Given the description of an element on the screen output the (x, y) to click on. 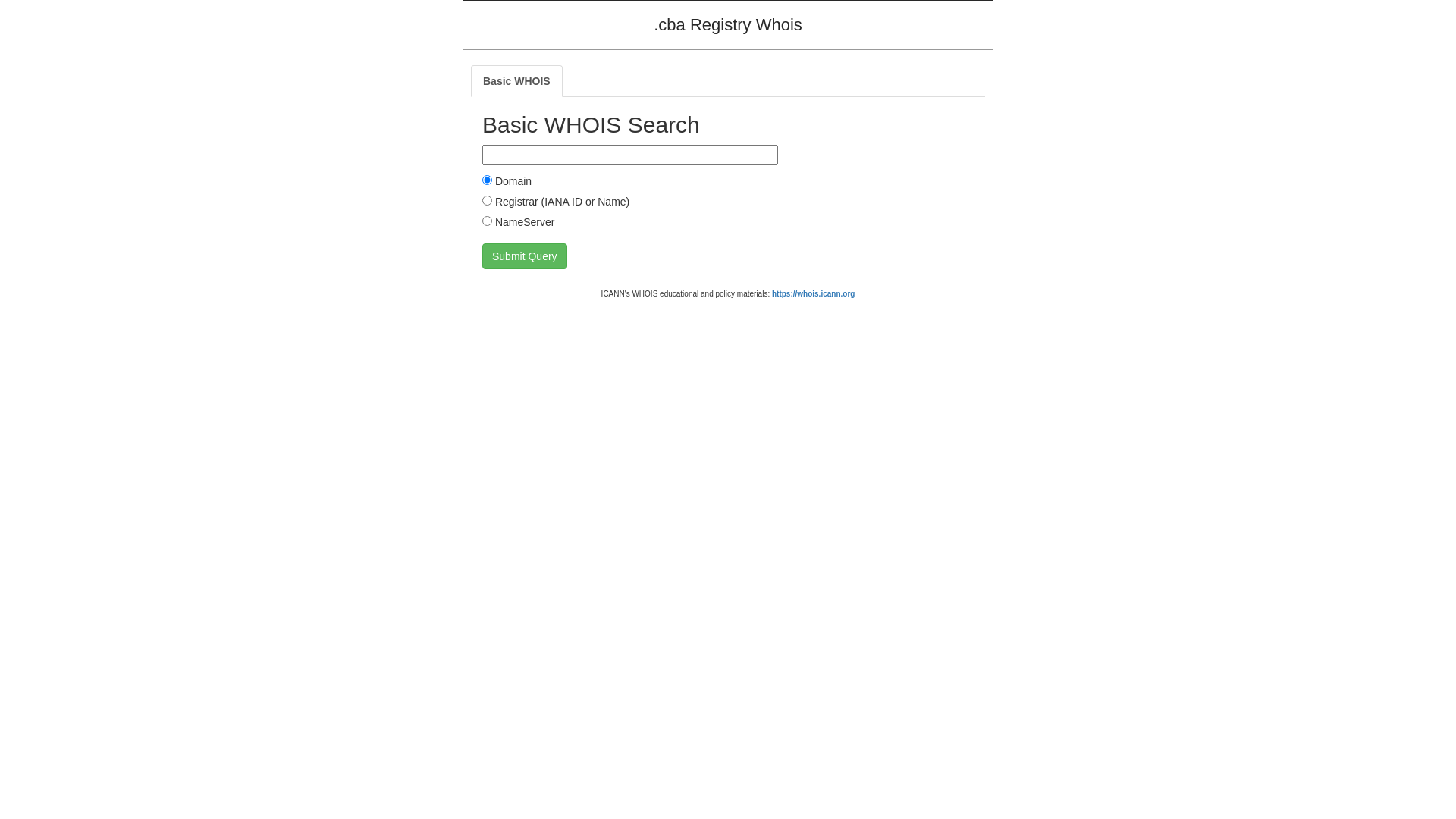
Submit Query Element type: text (524, 256)
Basic WHOIS Element type: text (516, 81)
https://whois.icann.org Element type: text (812, 293)
